Given the description of an element on the screen output the (x, y) to click on. 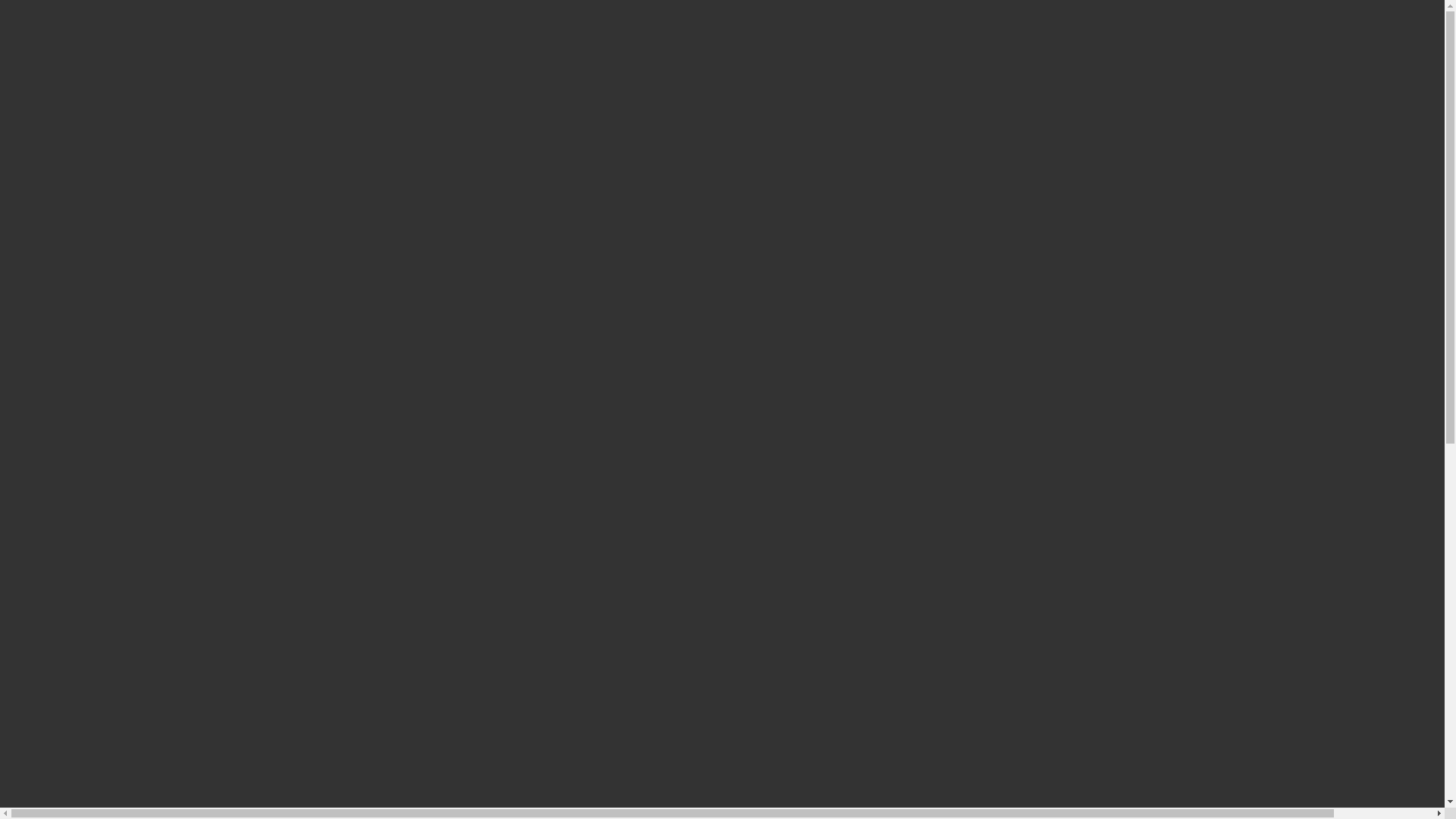
Interclub Element type: text (52, 185)
Verein Element type: text (46, 59)
Erstellt mit ClubDesk Vereinssoftware Element type: text (74, 542)
BC Adligenswil Element type: text (39, 6)
Login Element type: text (14, 19)
Geschichte Element type: text (87, 87)
Aktive Element type: text (77, 129)
Vorstand Element type: text (81, 74)
3. Liga Element type: text (77, 199)
Plausch Element type: text (79, 144)
Intern Element type: text (44, 171)
Impressum Element type: text (26, 567)
Junioren Element type: text (81, 115)
Datenschutz Element type: text (29, 581)
Kontakt Element type: text (49, 157)
Training Element type: text (51, 101)
